Given the description of an element on the screen output the (x, y) to click on. 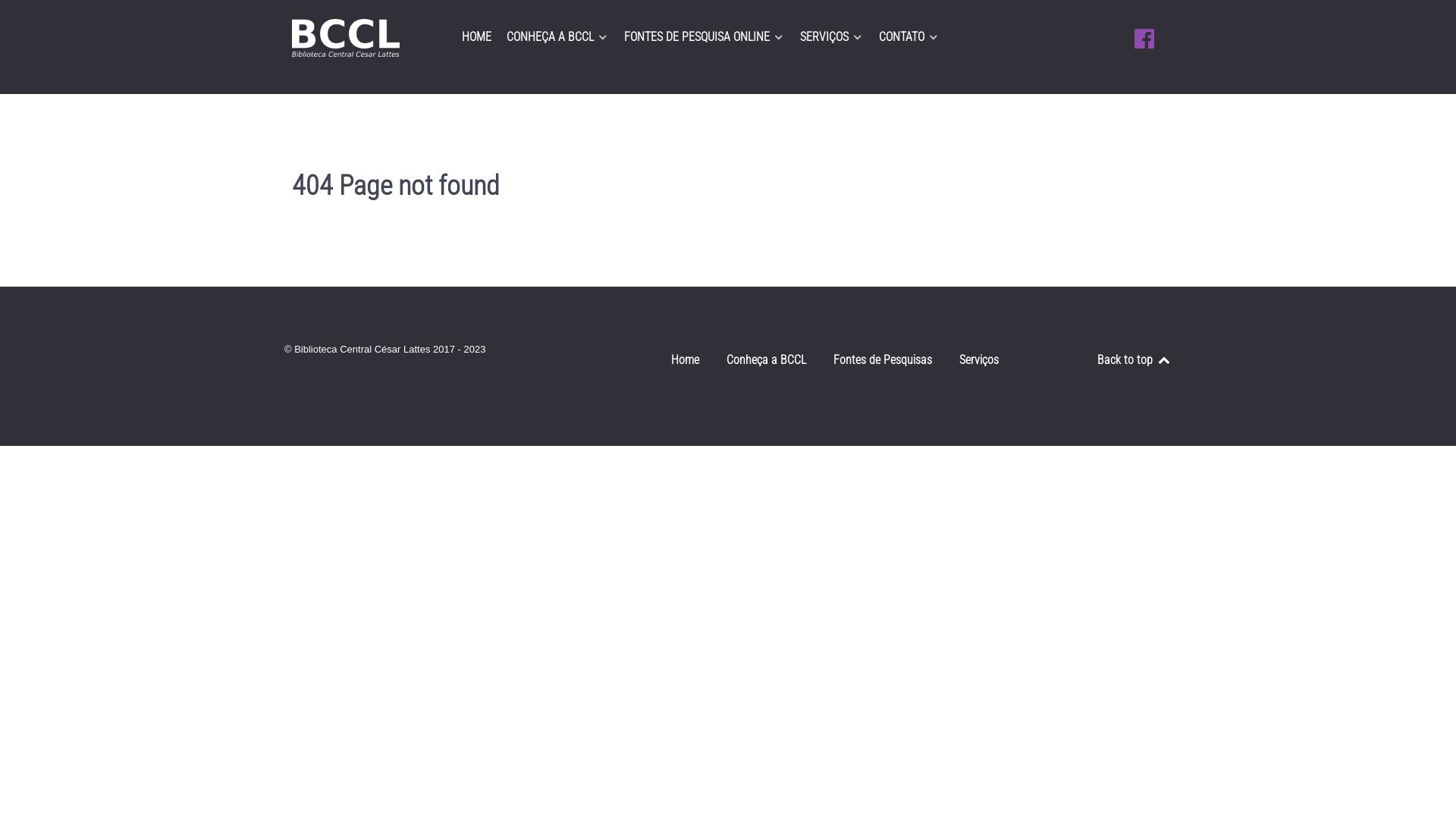
Back to top Element type: text (1134, 359)
Home Element type: text (685, 363)
HOME Element type: text (476, 38)
Fontes de Pesquisas Element type: text (882, 363)
CONTATO Element type: text (908, 38)
